Given the description of an element on the screen output the (x, y) to click on. 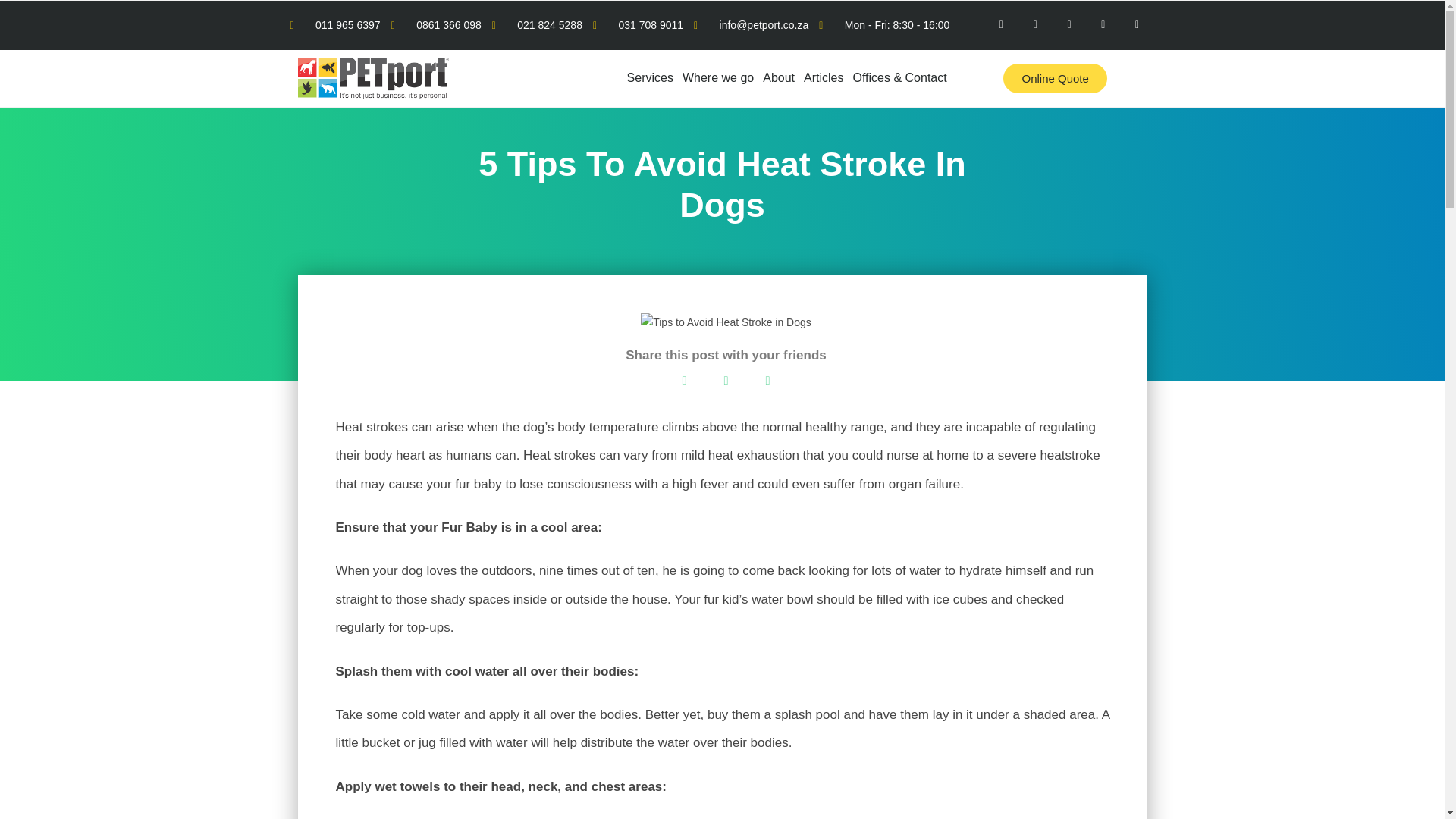
Services (650, 78)
Tips to Avoid Heat Stroke in Dogs (725, 322)
0861 366 098 (436, 25)
031 708 9011 (637, 25)
About (778, 78)
021 824 5288 (537, 25)
Where we go (718, 78)
